Given the description of an element on the screen output the (x, y) to click on. 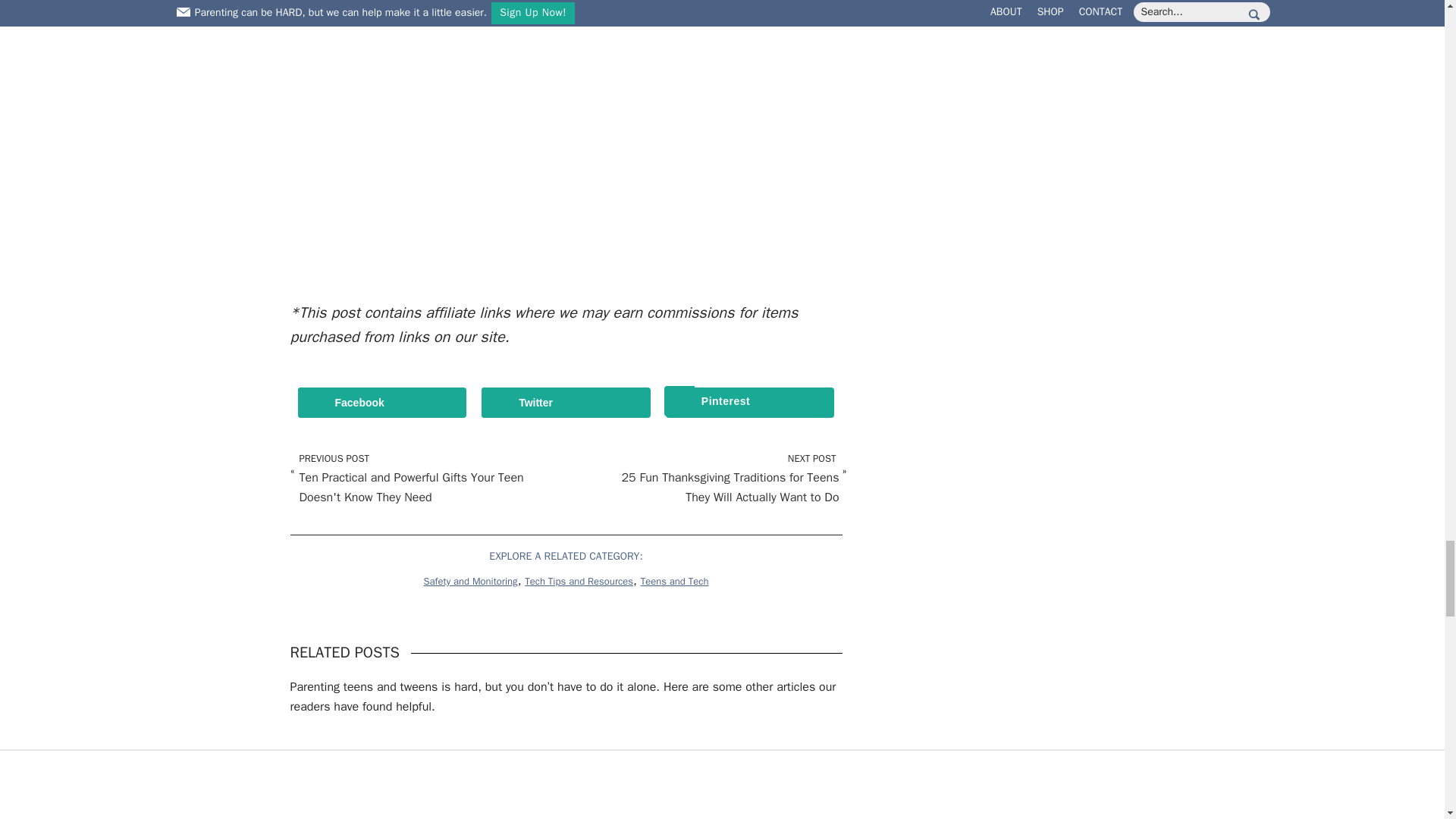
Share on Facebook (381, 402)
Share on X (565, 402)
Save to Pinterest (749, 402)
